Given the description of an element on the screen output the (x, y) to click on. 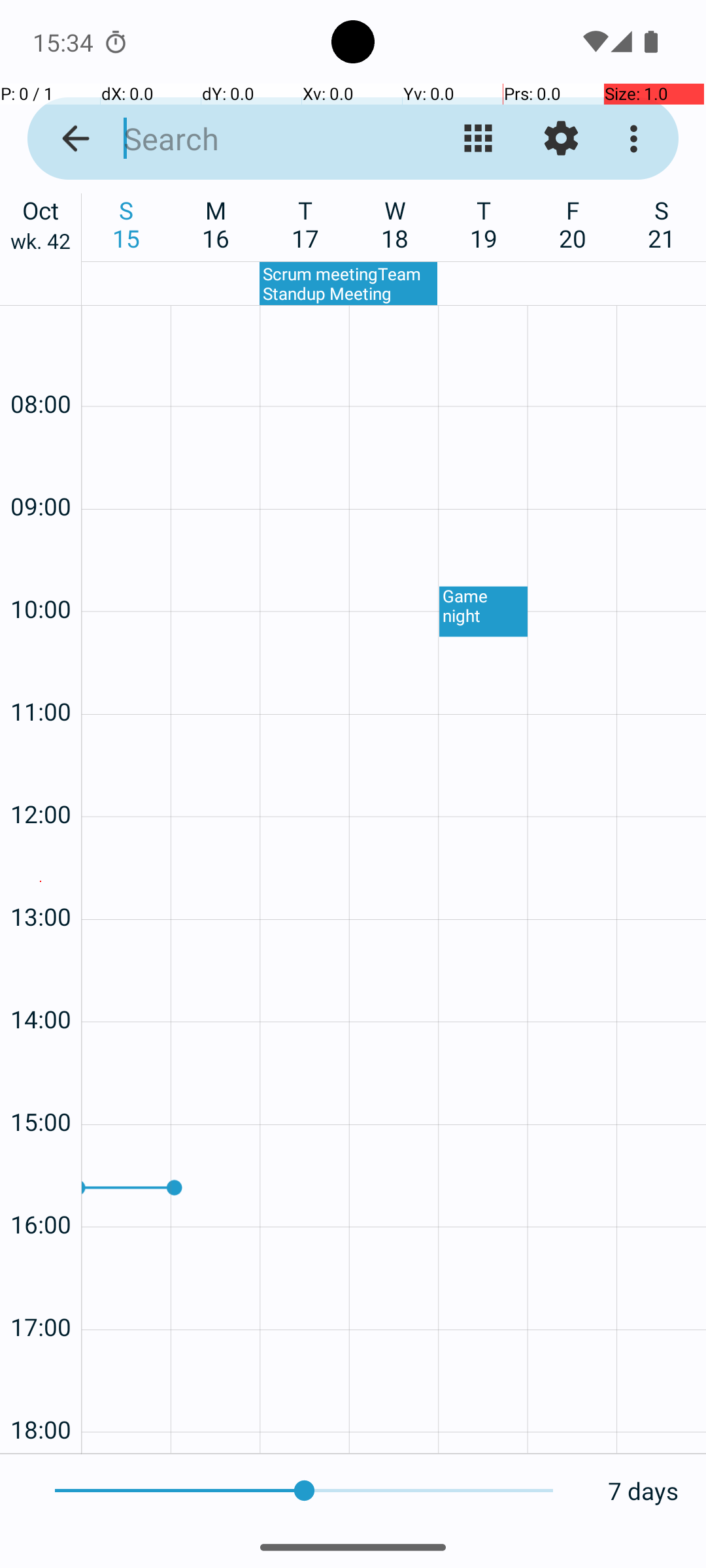
wk. 42 Element type: android.widget.TextView (40, 243)
M
16 Element type: android.widget.TextView (215, 223)
T
17 Element type: android.widget.TextView (305, 223)
W
18 Element type: android.widget.TextView (394, 223)
T
19 Element type: android.widget.TextView (483, 223)
F
20 Element type: android.widget.TextView (572, 223)
S
21 Element type: android.widget.TextView (661, 223)
Scrum meetingTeam Standup Meeting Element type: android.widget.TextView (348, 283)
Game night Element type: android.widget.TextView (483, 611)
